Given the description of an element on the screen output the (x, y) to click on. 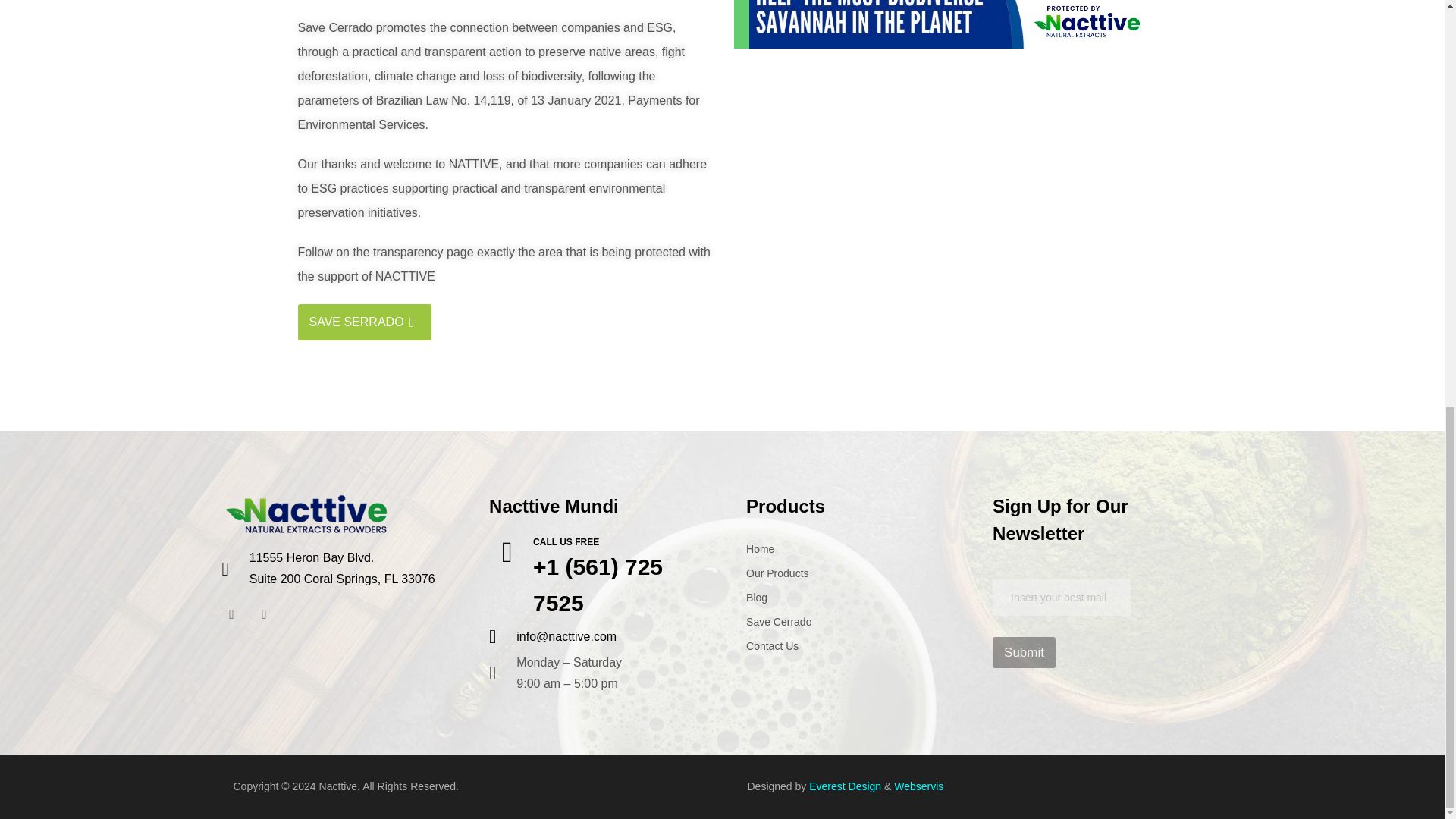
Home (759, 548)
SAVE SERRADO (363, 321)
CALL US FREE (565, 542)
Blog (756, 597)
Our Products (776, 573)
